Given the description of an element on the screen output the (x, y) to click on. 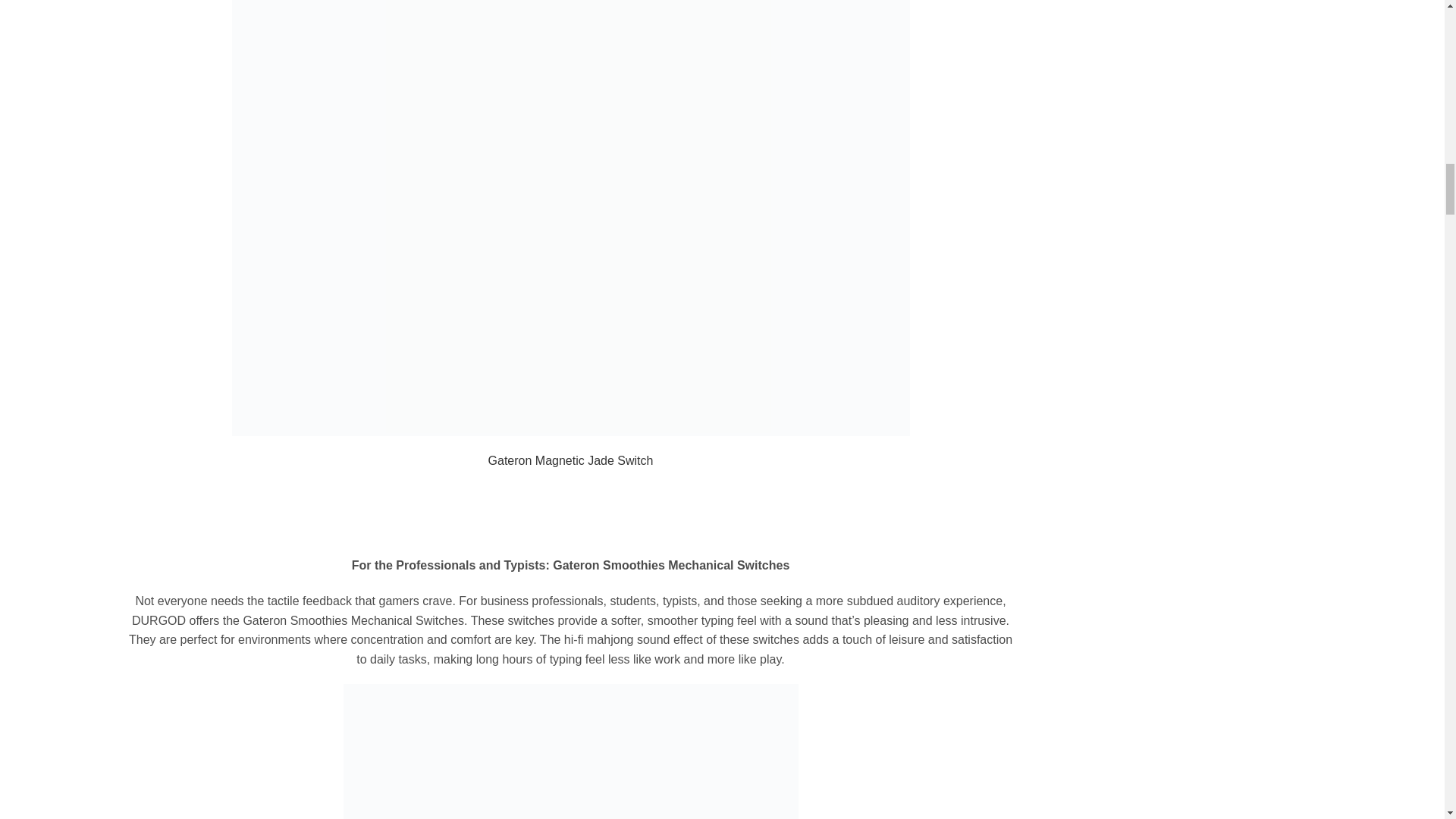
Gateron Magnetic Jade Switch (570, 460)
